Given the description of an element on the screen output the (x, y) to click on. 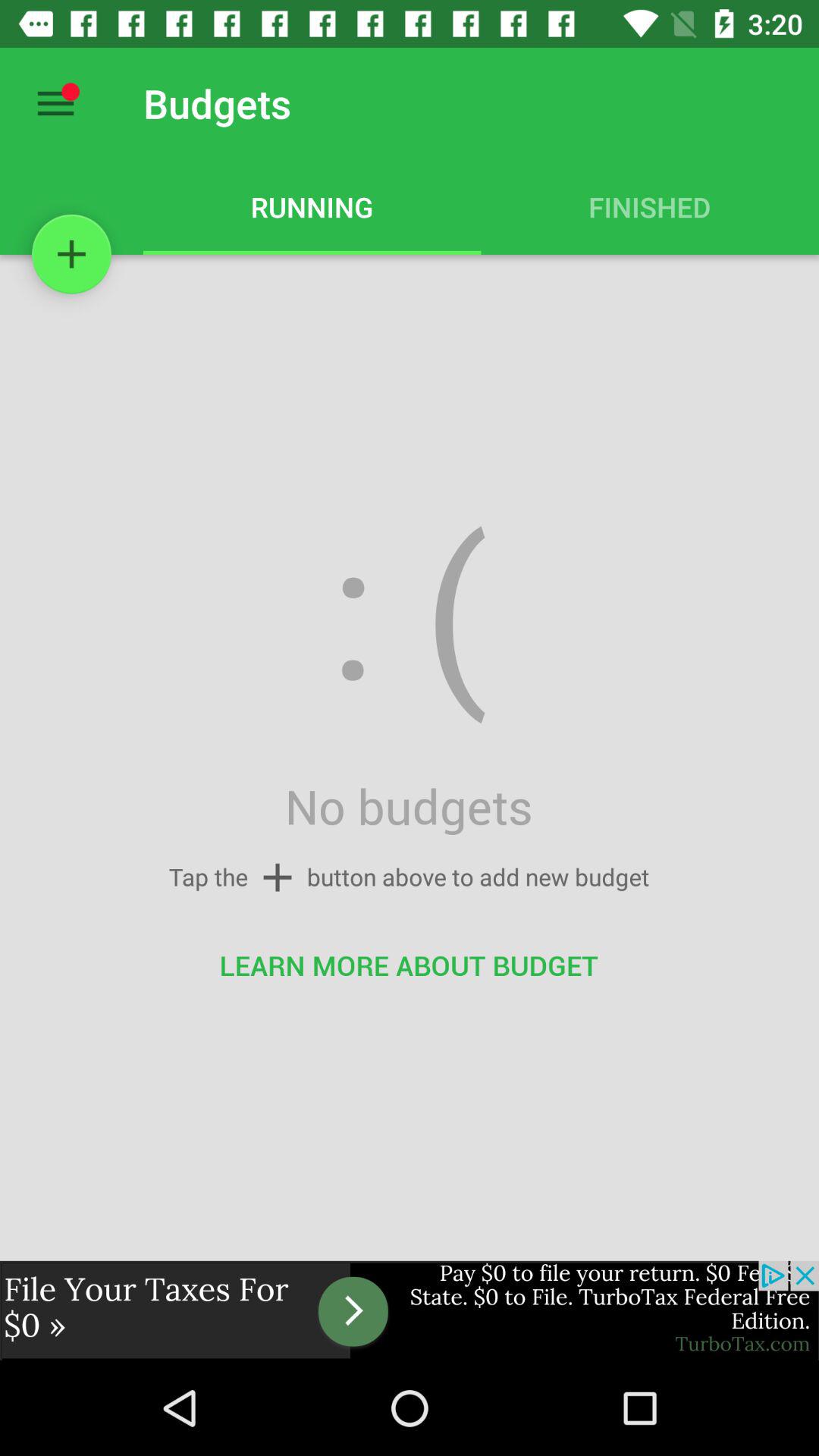
advertisements (409, 1310)
